Given the description of an element on the screen output the (x, y) to click on. 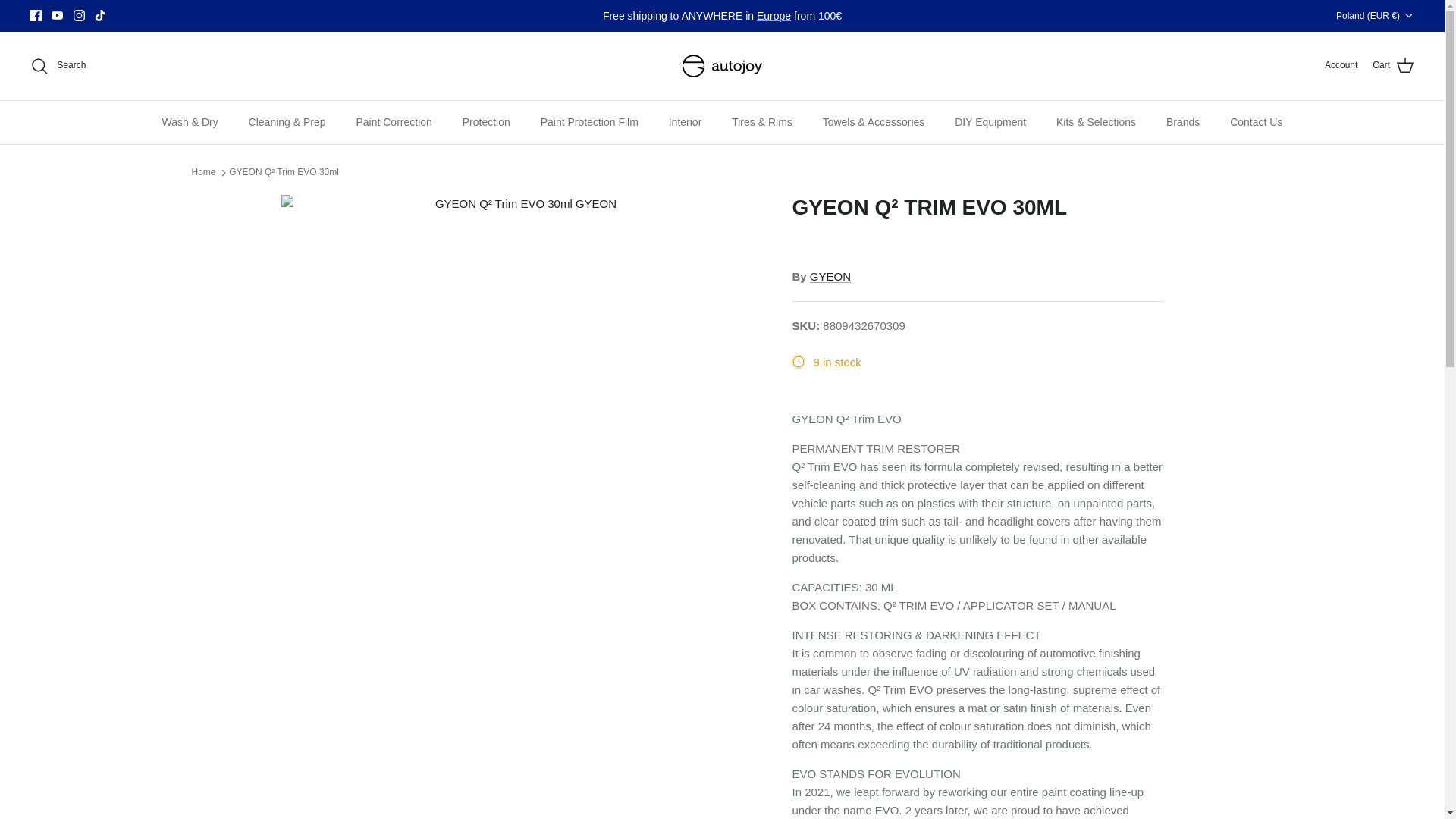
Down (1408, 15)
Youtube (56, 15)
Instagram (79, 15)
Youtube (56, 15)
Autojoy Baltic (722, 65)
Search (57, 65)
Europe (773, 15)
Cart (1393, 66)
Account (1340, 65)
Facebook (36, 15)
Instagram (79, 15)
Facebook (36, 15)
